Given the description of an element on the screen output the (x, y) to click on. 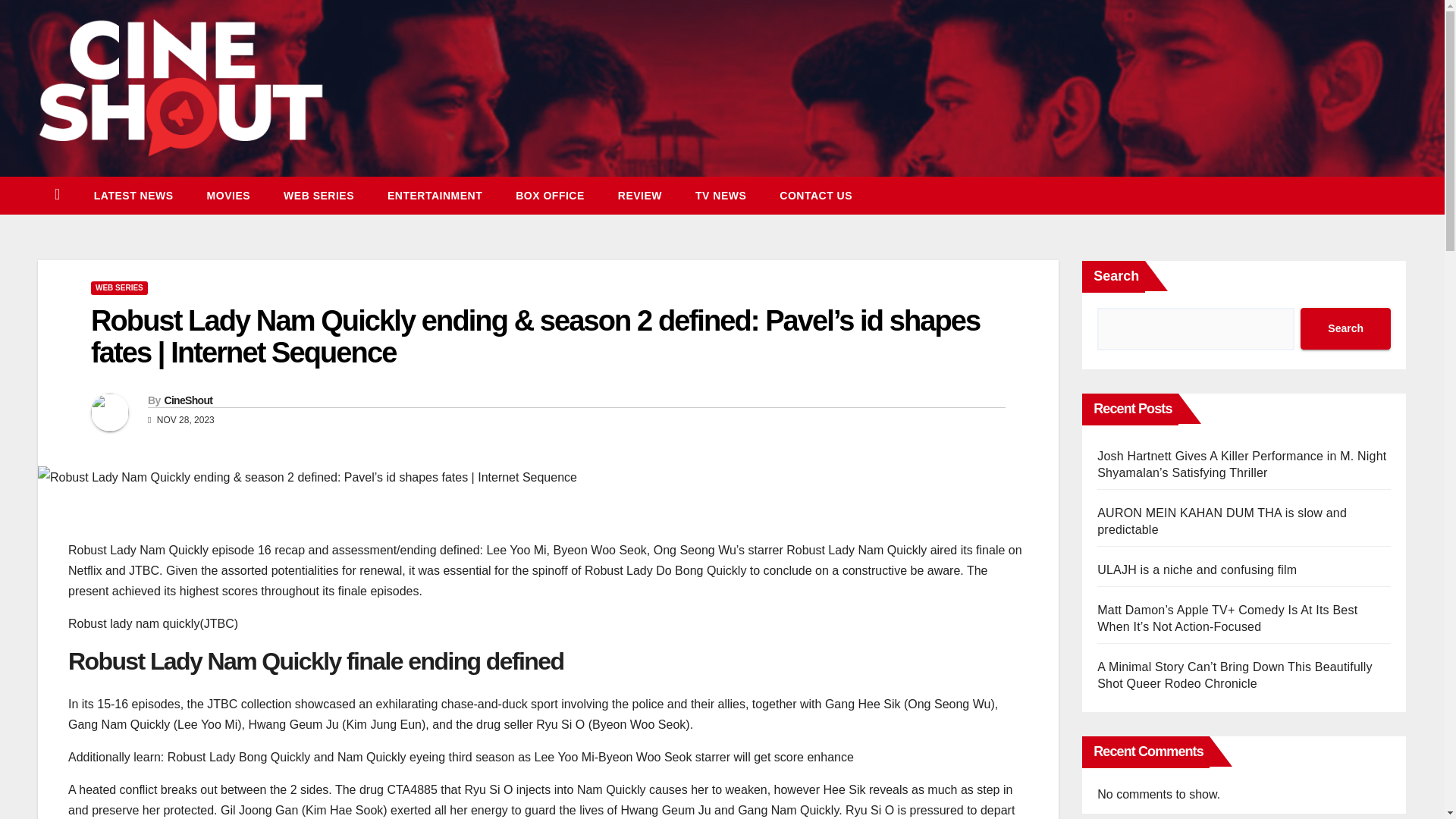
WEB SERIES (119, 287)
Web Series (318, 195)
ENTERTAINMENT (435, 195)
Review (639, 195)
CineShout (187, 399)
Latest News (133, 195)
LATEST NEWS (133, 195)
AURON MEIN KAHAN DUM THA is slow and predictable (1221, 521)
REVIEW (639, 195)
Entertainment (435, 195)
TV News (720, 195)
CONTACT US (815, 195)
Movies (228, 195)
BOX OFFICE (550, 195)
Search (1345, 328)
